Given the description of an element on the screen output the (x, y) to click on. 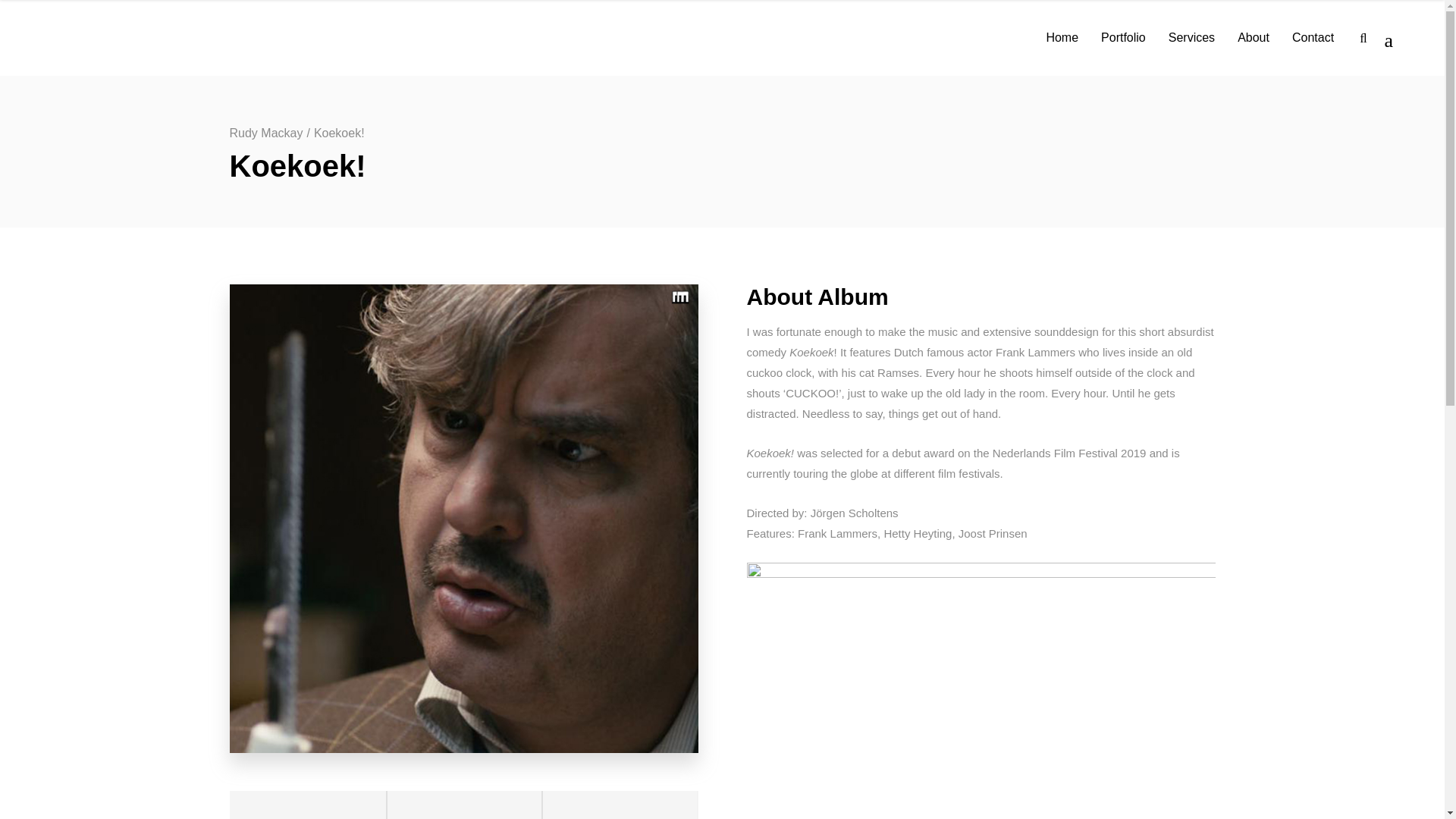
Rudy Mackay (265, 133)
Portfolio (1123, 38)
Services (1191, 38)
